Given the description of an element on the screen output the (x, y) to click on. 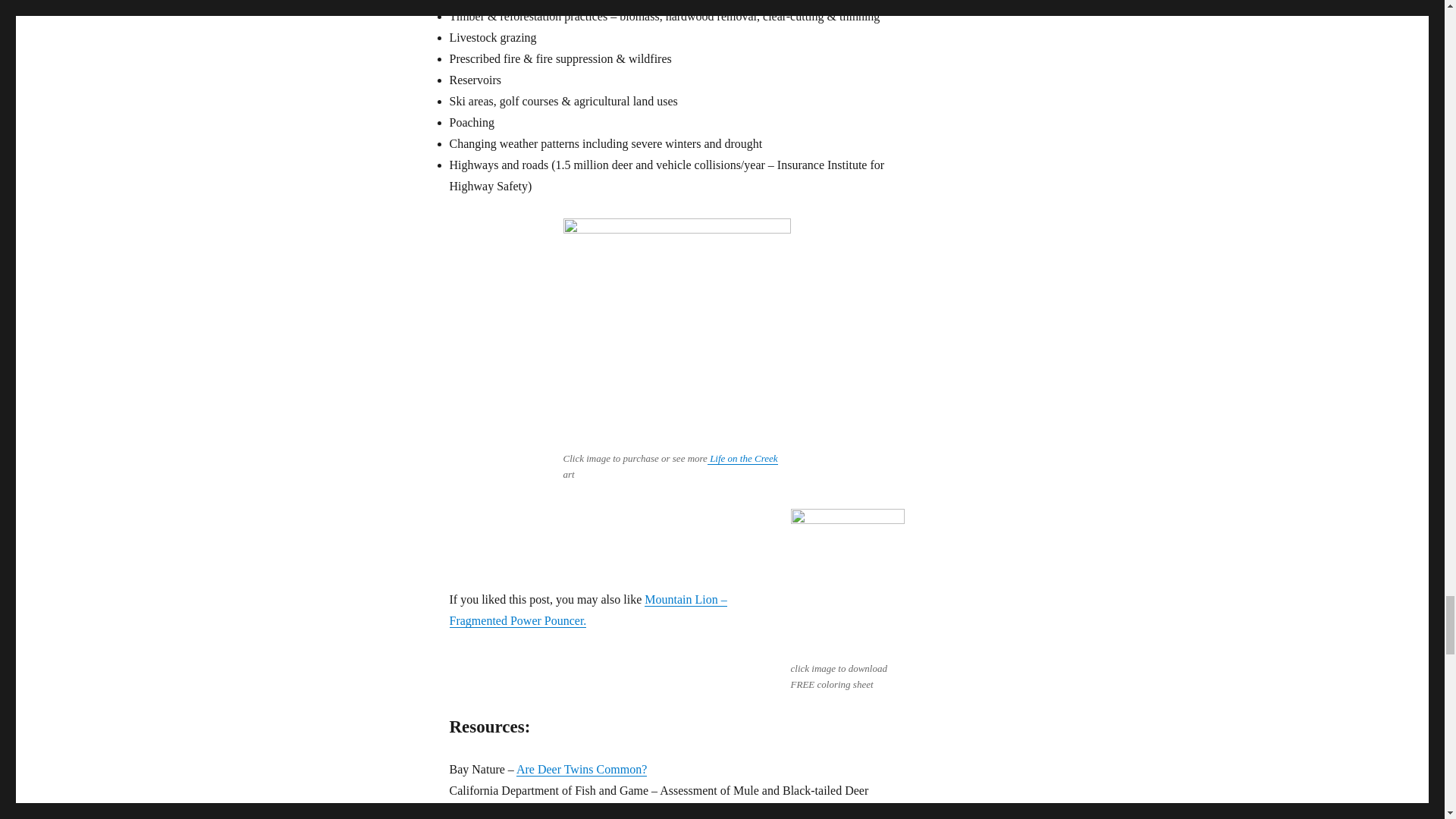
PDF (689, 811)
Life on the Creek (742, 458)
Are Deer Twins Common? (581, 768)
